Given the description of an element on the screen output the (x, y) to click on. 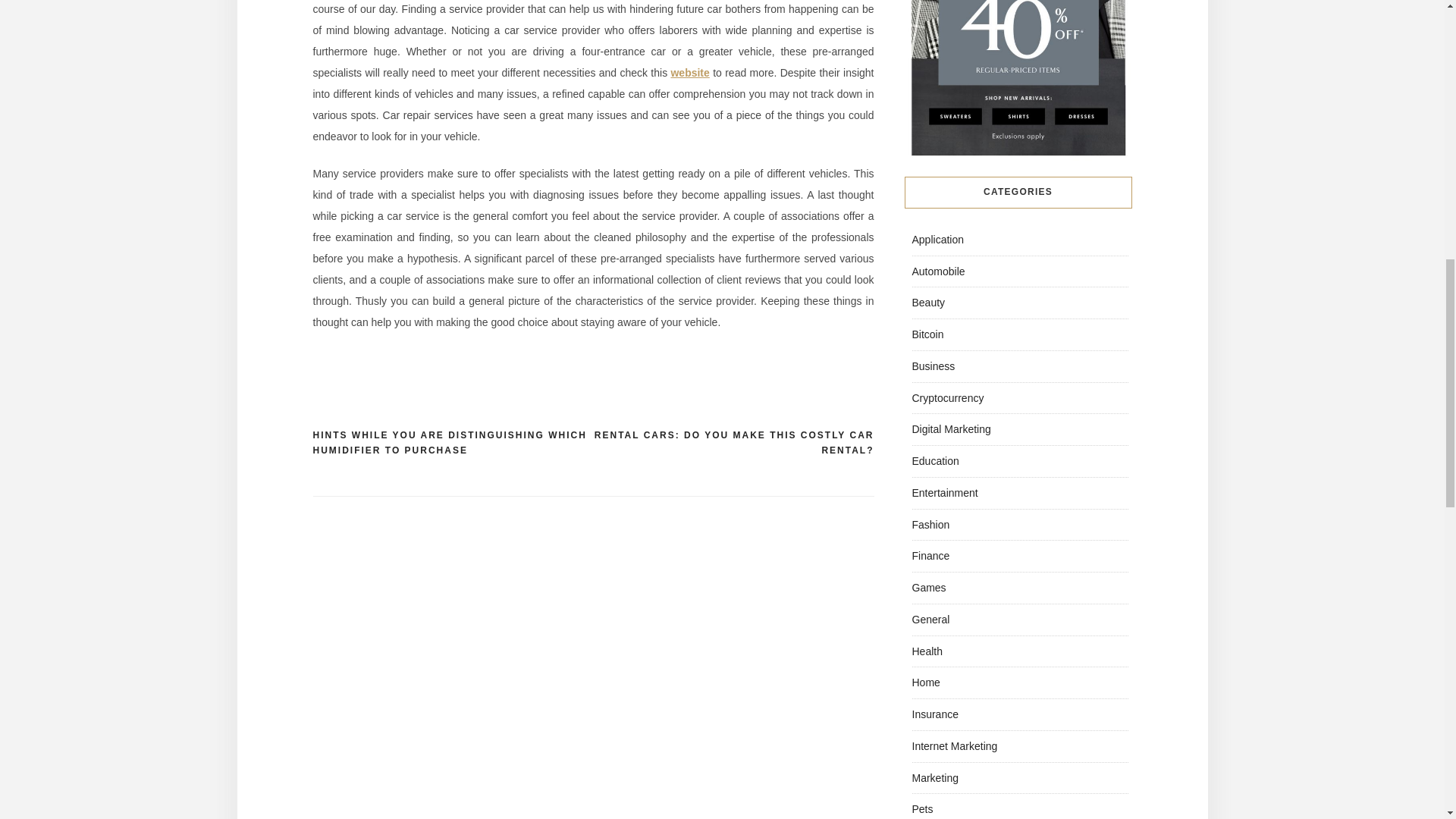
Business (933, 366)
Education (934, 460)
General (930, 619)
Marketing (934, 777)
Automobile (937, 271)
Bitcoin (927, 334)
RENTAL CARS: DO YOU MAKE THIS COSTLY CAR RENTAL? (732, 442)
Cryptocurrency (947, 398)
Digital Marketing (950, 428)
Health (926, 651)
Home (925, 682)
Finance (930, 555)
Application (937, 239)
Pets (922, 808)
Insurance (934, 714)
